Given the description of an element on the screen output the (x, y) to click on. 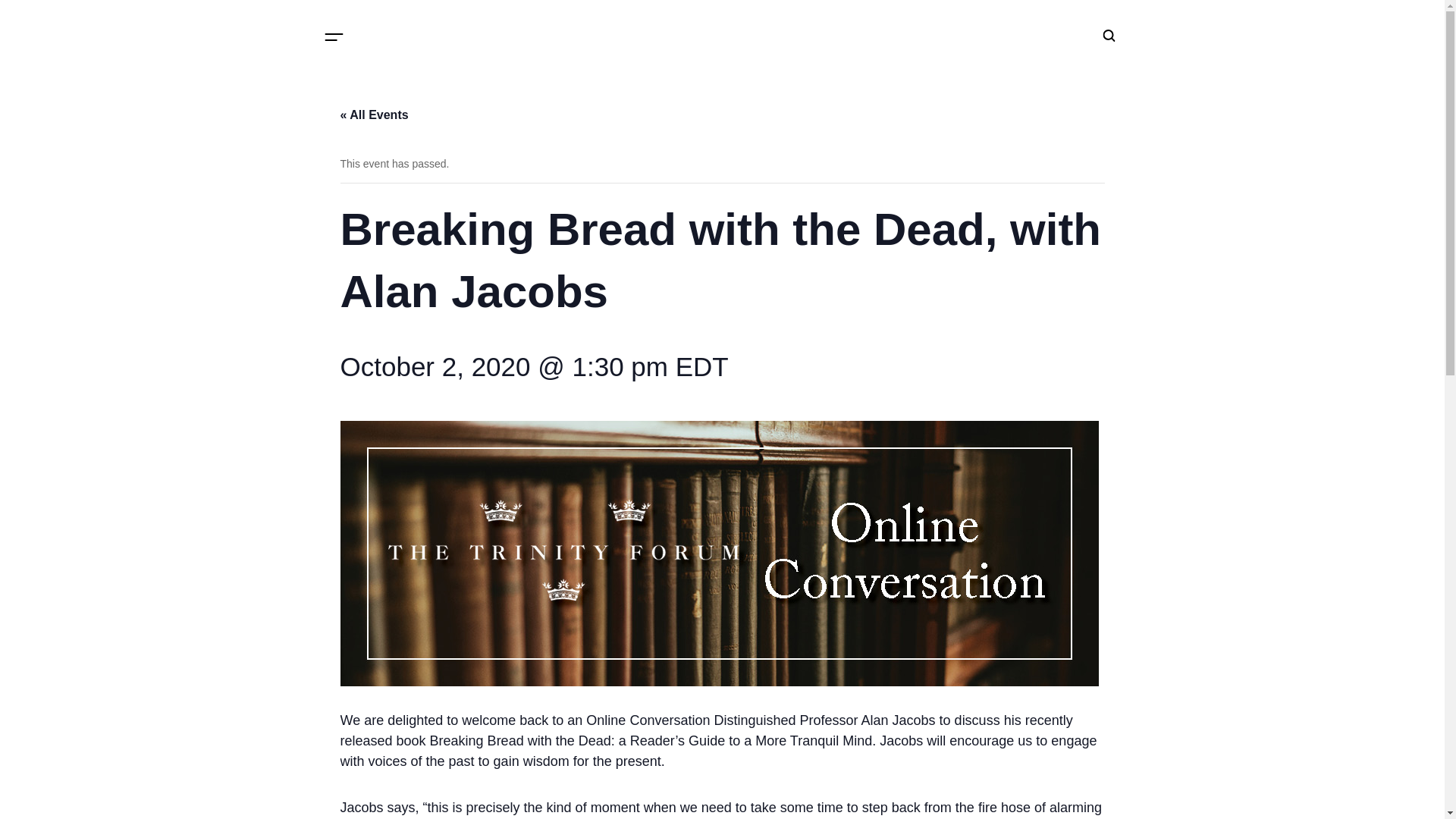
Submit (1003, 263)
